Given the description of an element on the screen output the (x, y) to click on. 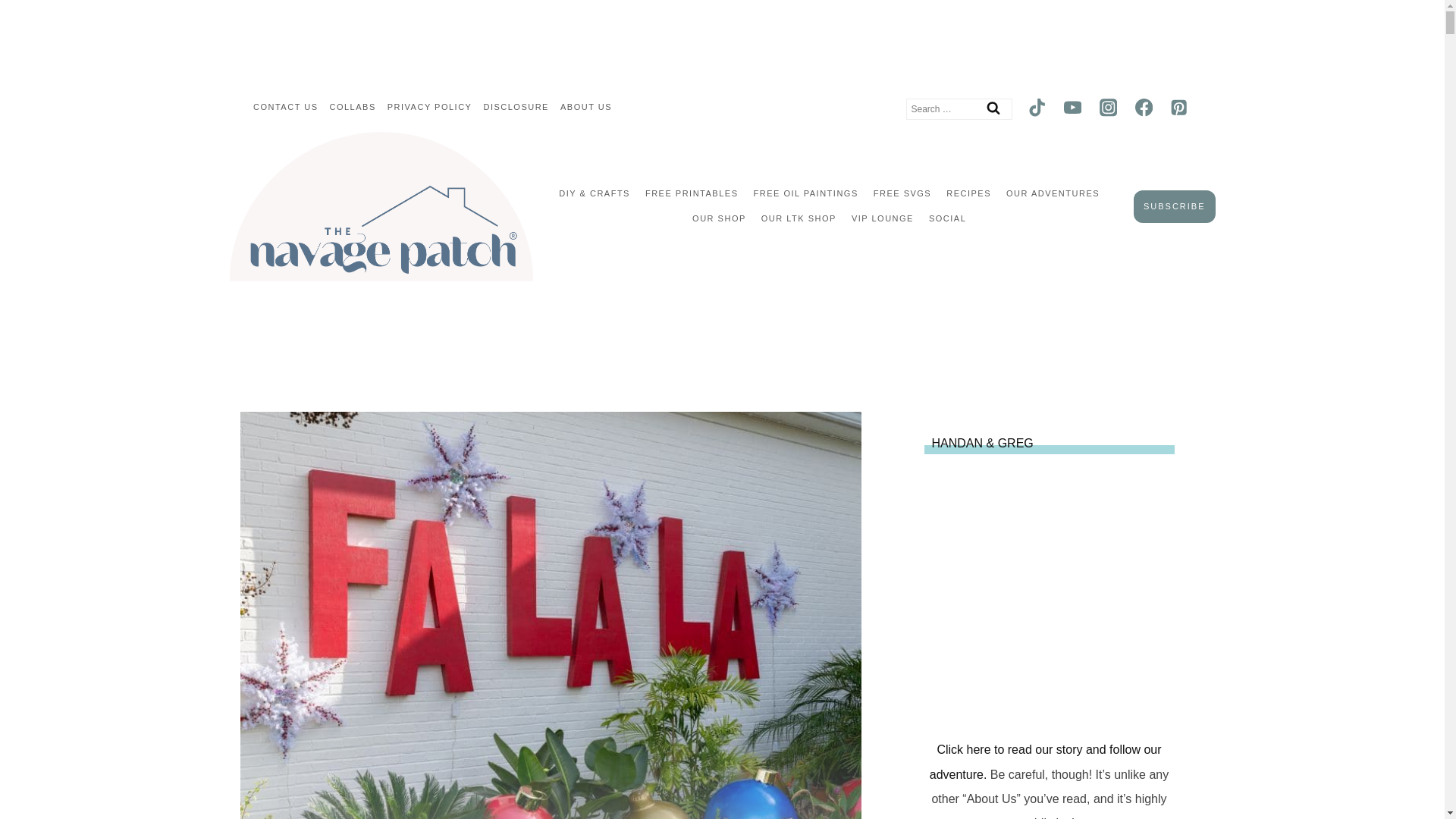
FREE OIL PAINTINGS (804, 194)
COLLABS (352, 107)
FREE PRINTABLES (691, 194)
RECIPES (968, 194)
OUR SHOP (719, 218)
FREE SVGS (902, 194)
SOCIAL (947, 218)
OUR ADVENTURES (1052, 194)
OUR LTK SHOP (799, 218)
Search (992, 107)
